Given the description of an element on the screen output the (x, y) to click on. 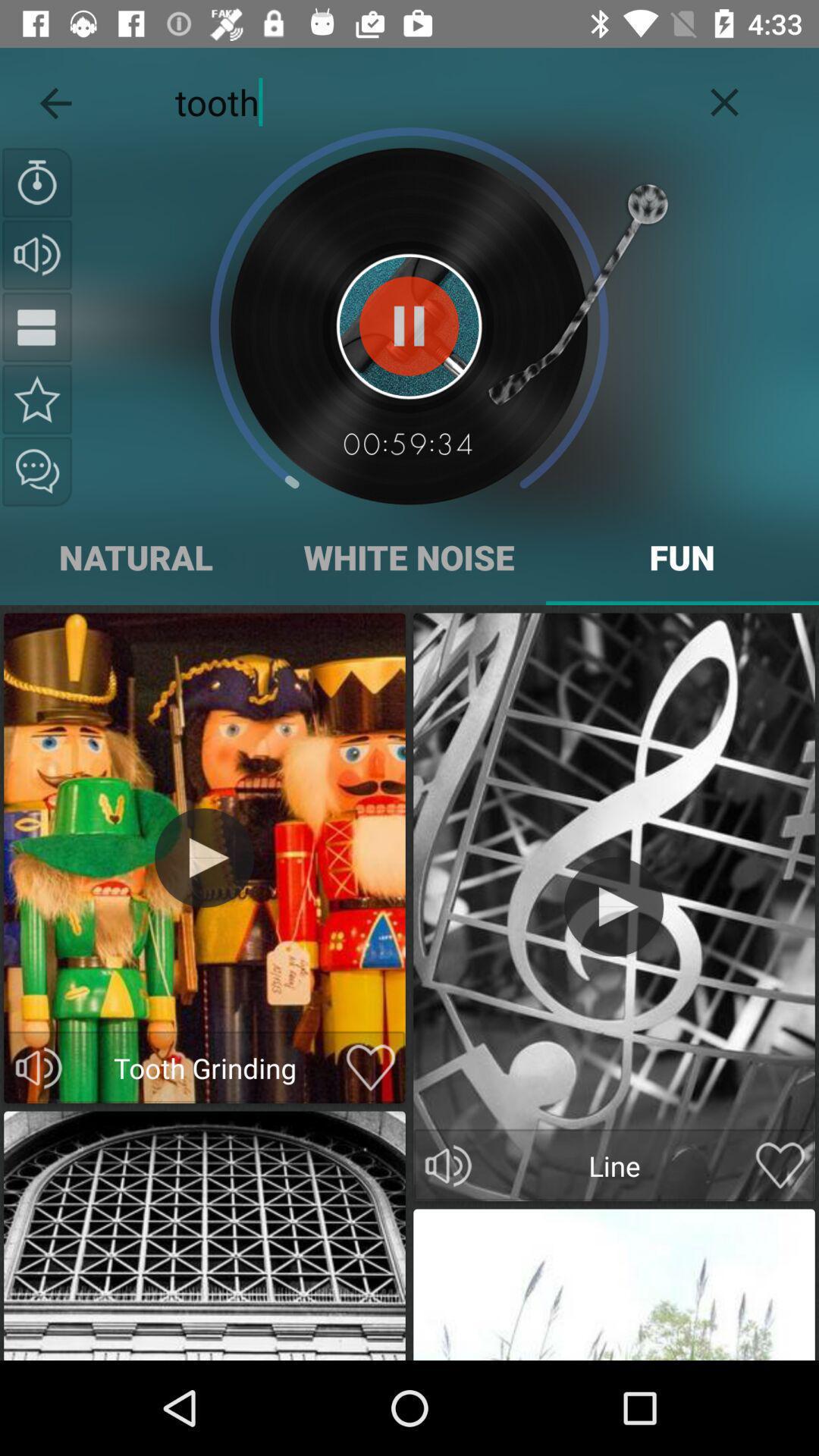
like the audio (370, 1067)
